Given the description of an element on the screen output the (x, y) to click on. 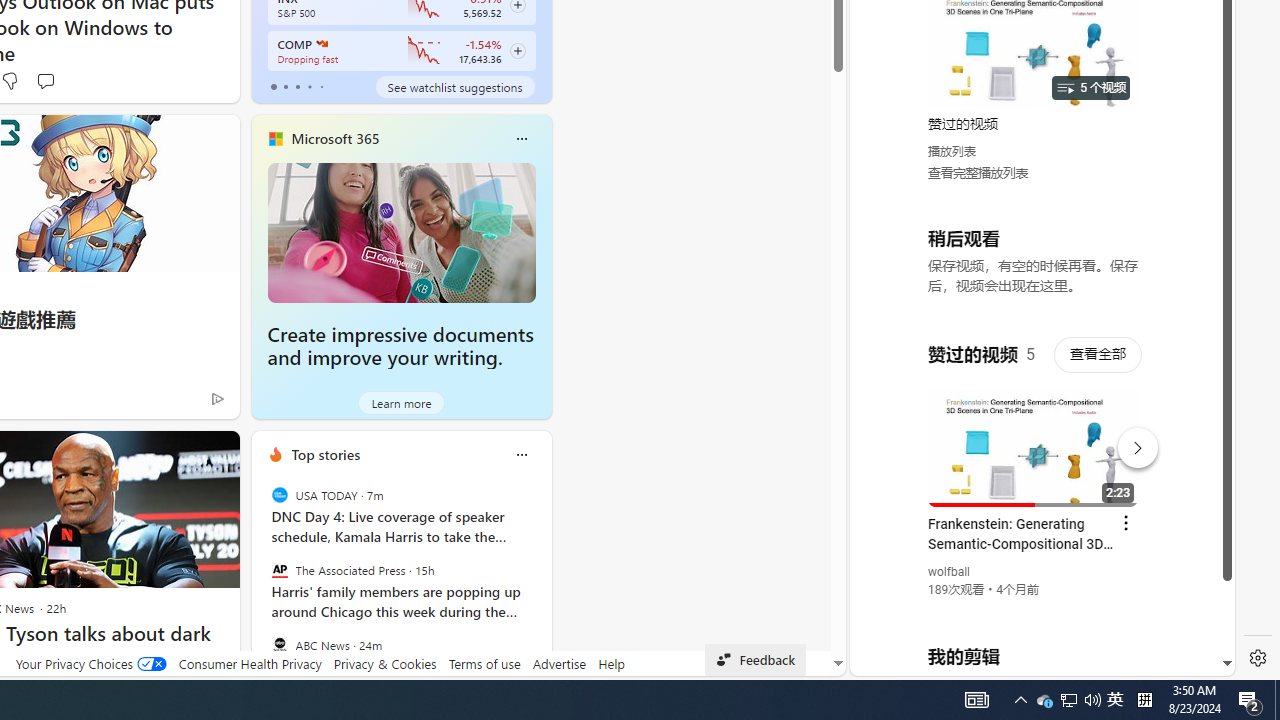
NASDAQ (320, 43)
More options (521, 454)
previous (261, 583)
Class: icon-img (521, 454)
Terms of use (484, 663)
Global web icon (888, 432)
Feedback (755, 659)
wolfball (949, 572)
Privacy & Cookies (384, 663)
Your Privacy Choices (90, 663)
you (1034, 609)
tab-4 (320, 86)
